Given the description of an element on the screen output the (x, y) to click on. 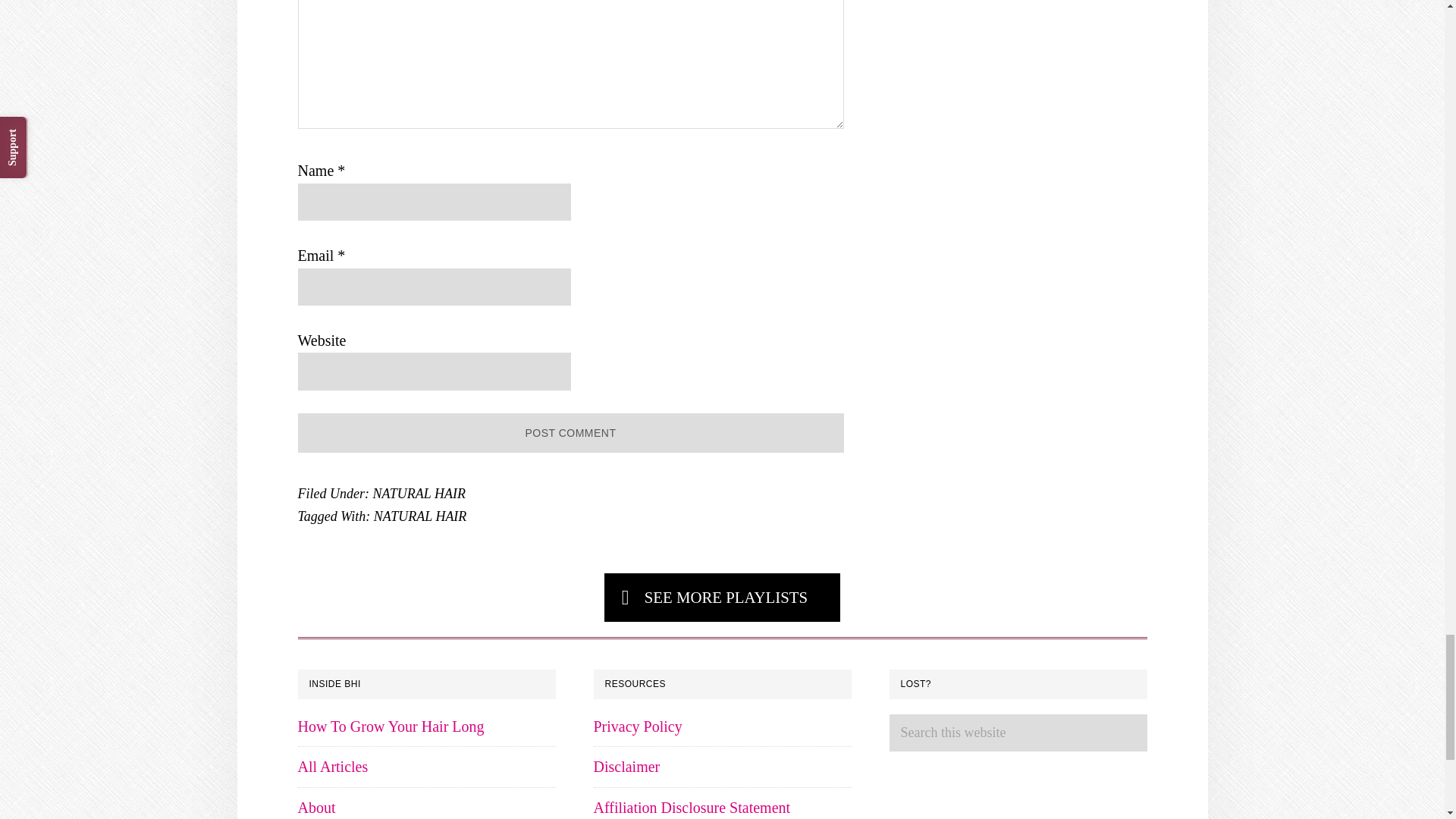
Post Comment (570, 433)
